Given the description of an element on the screen output the (x, y) to click on. 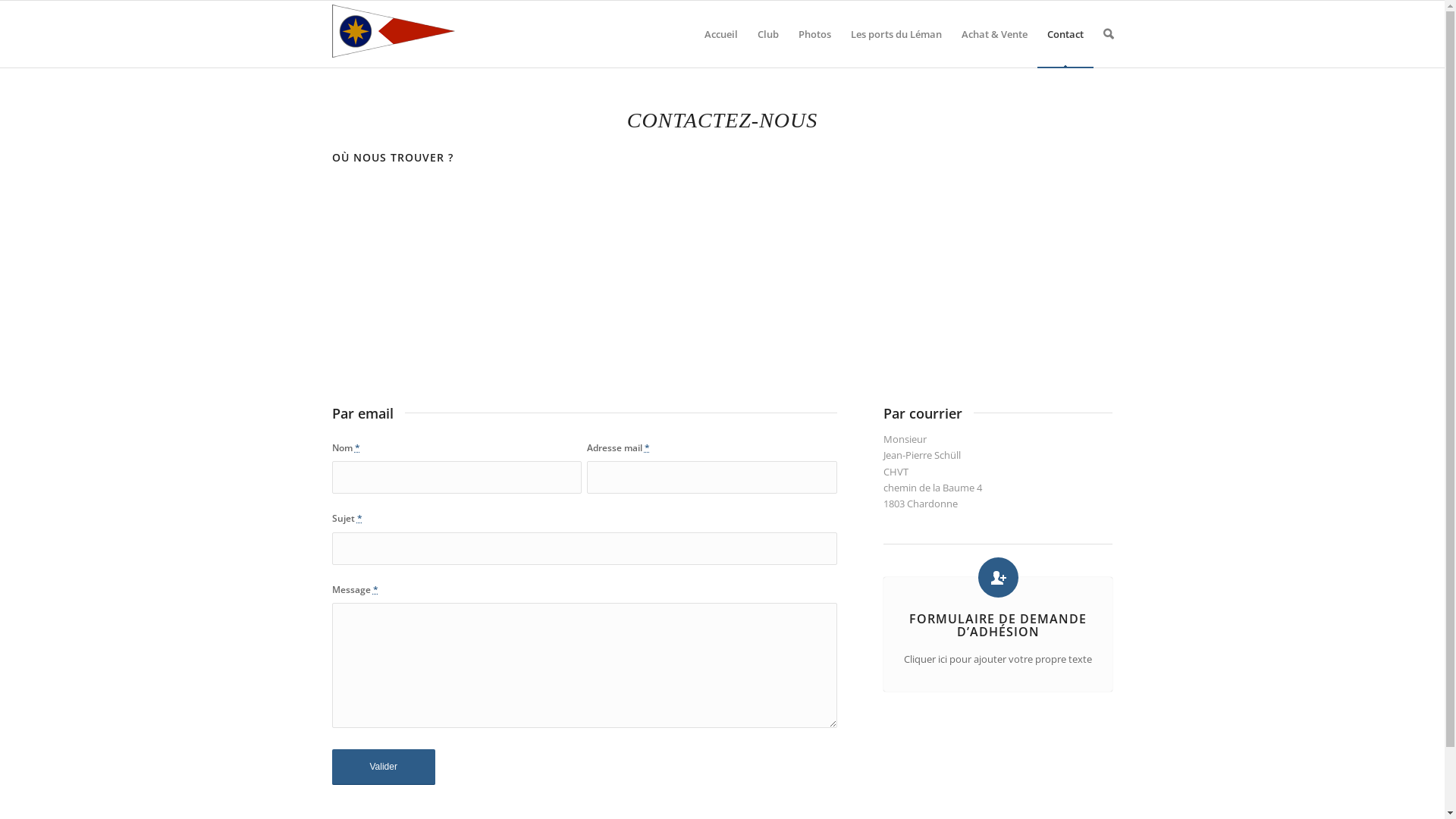
Photos Element type: text (814, 33)
Accueil Element type: text (720, 33)
Achat & Vente Element type: text (993, 33)
Club Element type: text (767, 33)
Valider Element type: text (383, 766)
Contact Element type: text (1065, 33)
